Given the description of an element on the screen output the (x, y) to click on. 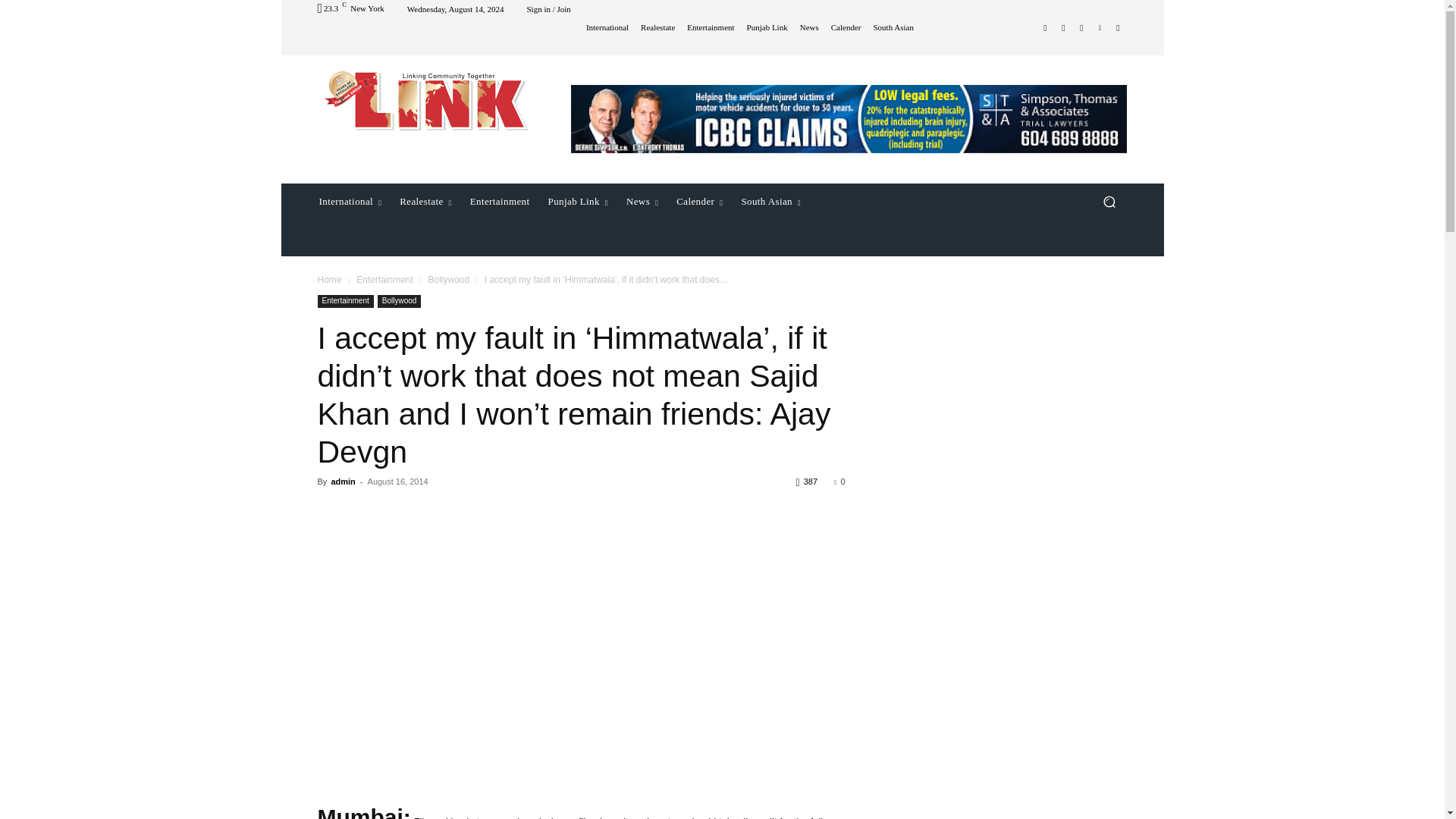
Calender (846, 27)
News (808, 27)
Vimeo (1099, 27)
International (349, 201)
Link Paper (425, 100)
Punjab Link (766, 27)
Entertainment (710, 27)
South Asian (892, 27)
Facebook (1044, 27)
Link Paper (426, 100)
